Given the description of an element on the screen output the (x, y) to click on. 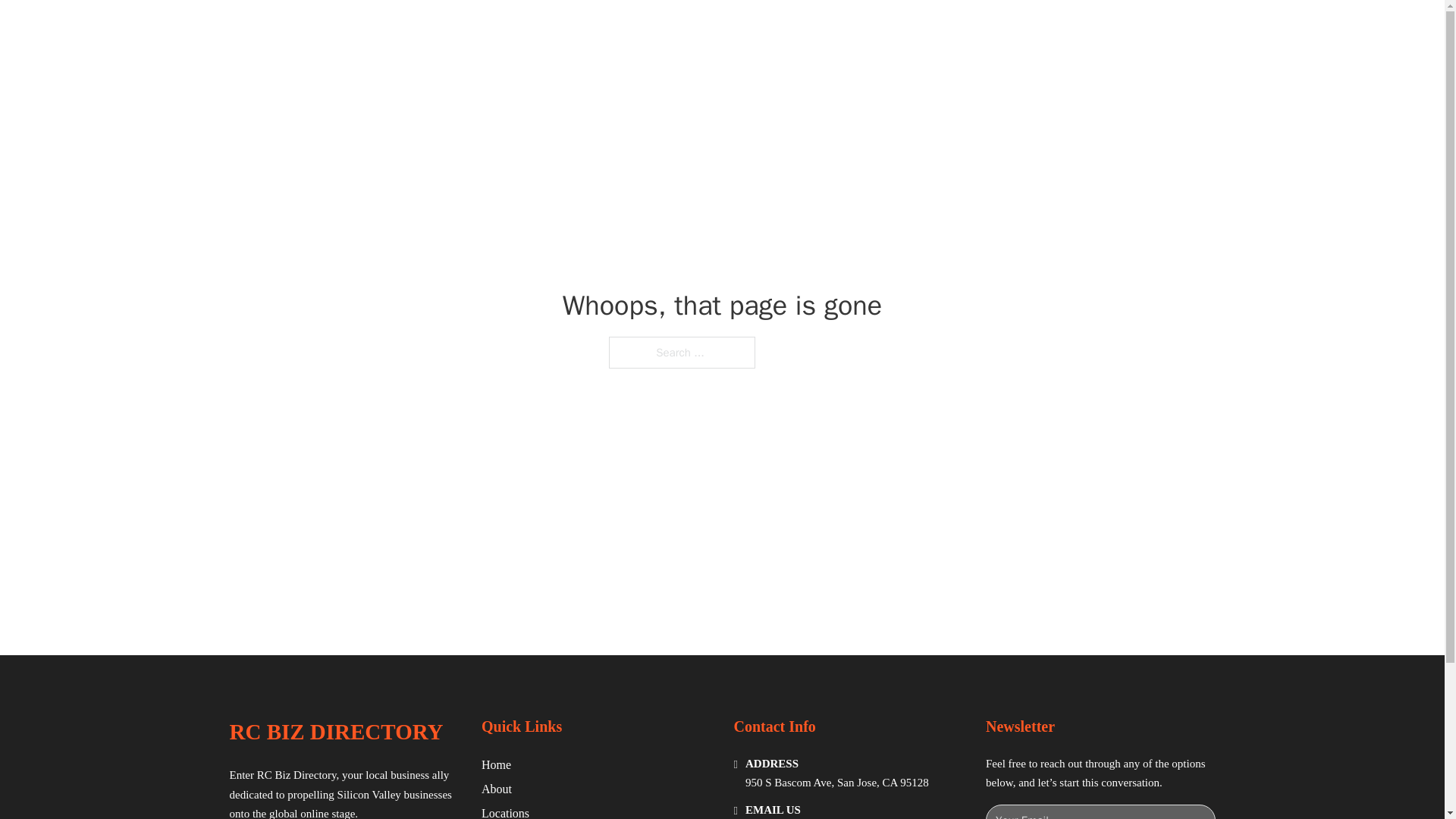
LOCATIONS (990, 29)
Locations (505, 811)
HOME (919, 29)
Home (496, 764)
About (496, 788)
RC BIZ DIRECTORY (404, 28)
RC BIZ DIRECTORY (335, 732)
